Given the description of an element on the screen output the (x, y) to click on. 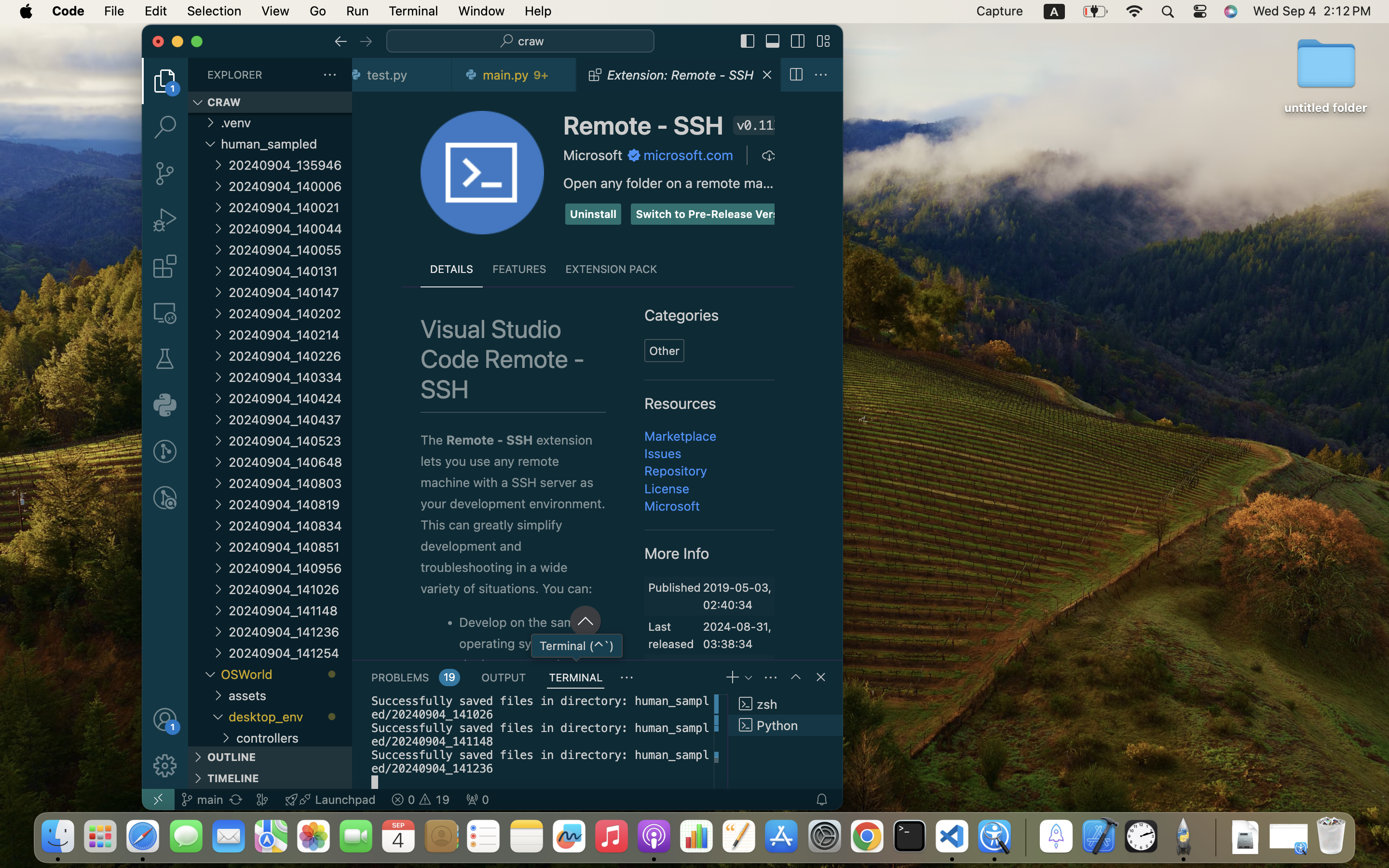
20240904_140147 Element type: AXGroup (290, 291)
0  Element type: AXRadioButton (164, 173)
2019-05-03, 02:40:34 Element type: AXStaticText (737, 596)
Published Element type: AXStaticText (674, 587)
Remote - SSH Element type: AXStaticText (643, 124)
